Given the description of an element on the screen output the (x, y) to click on. 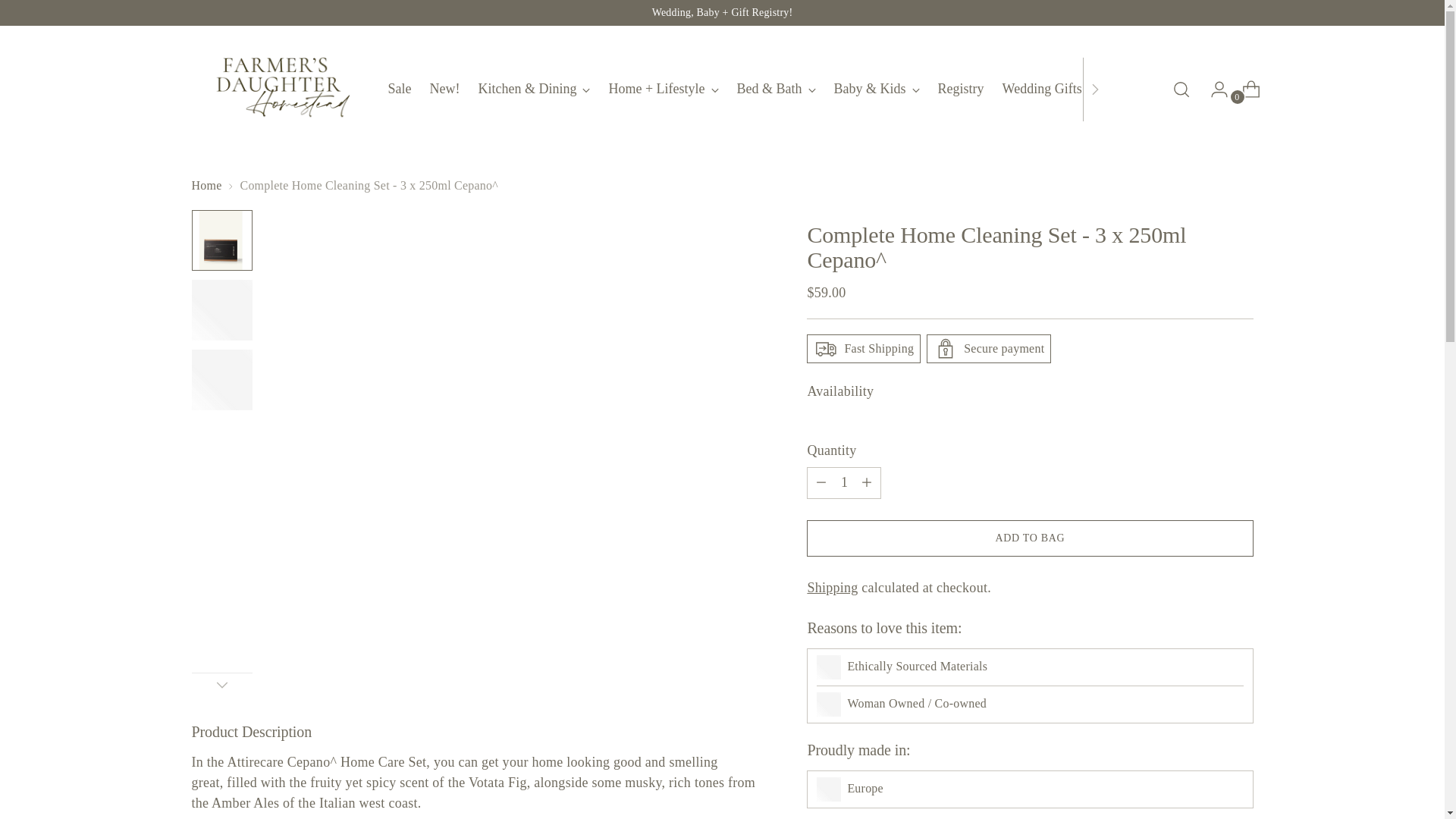
New! (444, 89)
1 (843, 482)
Down (220, 684)
